Given the description of an element on the screen output the (x, y) to click on. 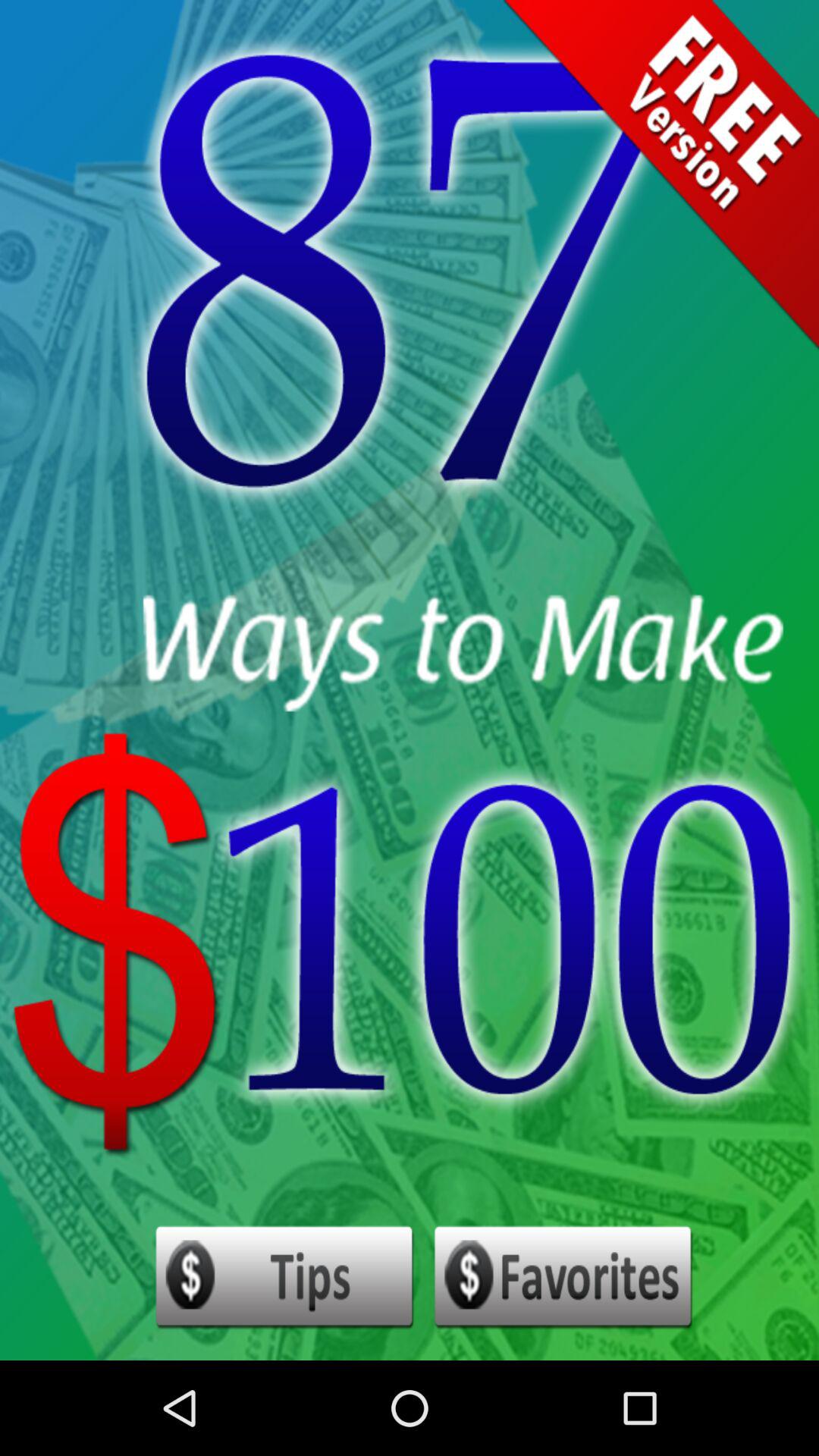
colour page (563, 1277)
